Given the description of an element on the screen output the (x, y) to click on. 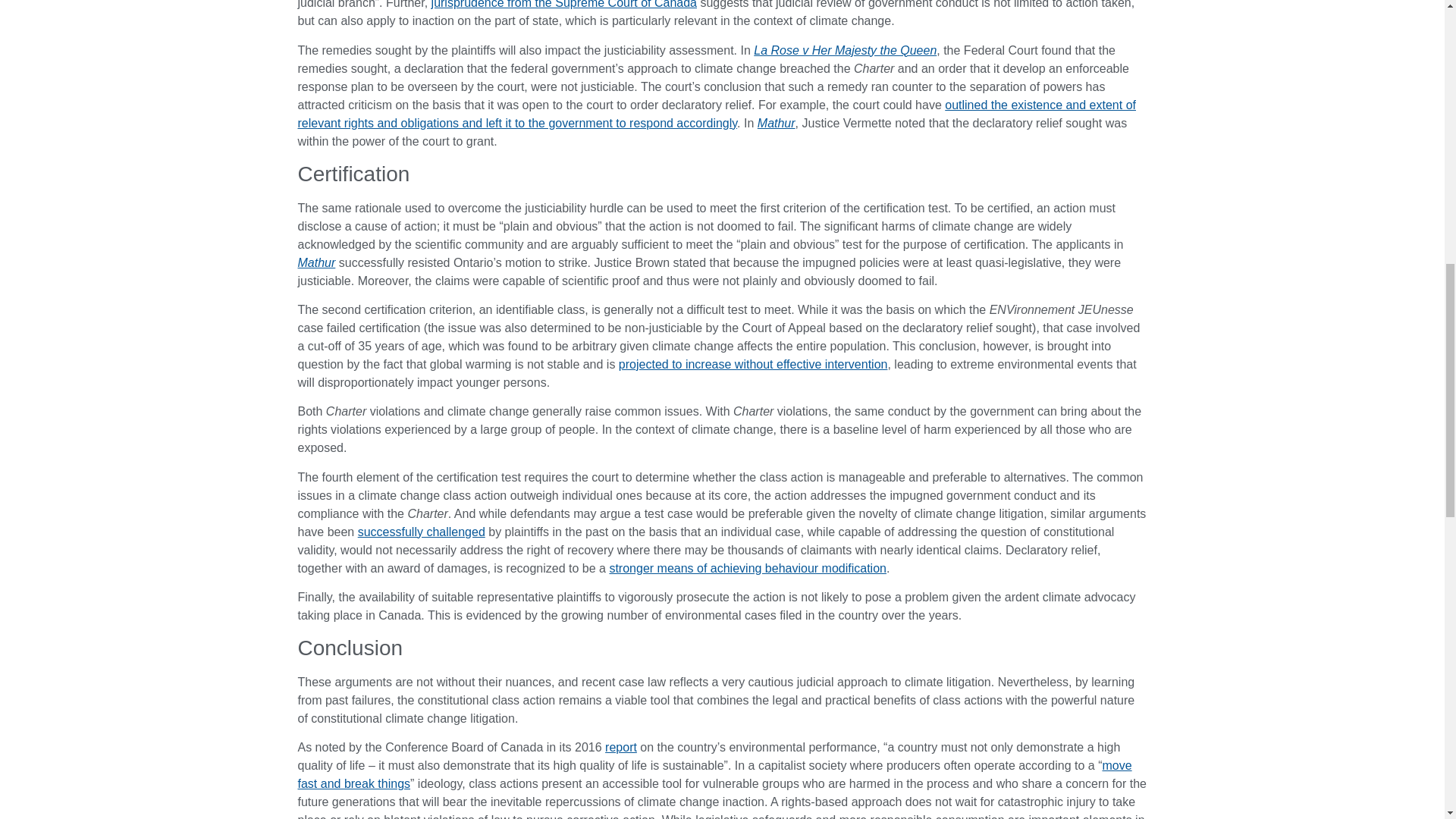
jurisprudence from the Supreme Court of Canada (563, 4)
La Rose v Her Majesty the Queen (845, 50)
